Given the description of an element on the screen output the (x, y) to click on. 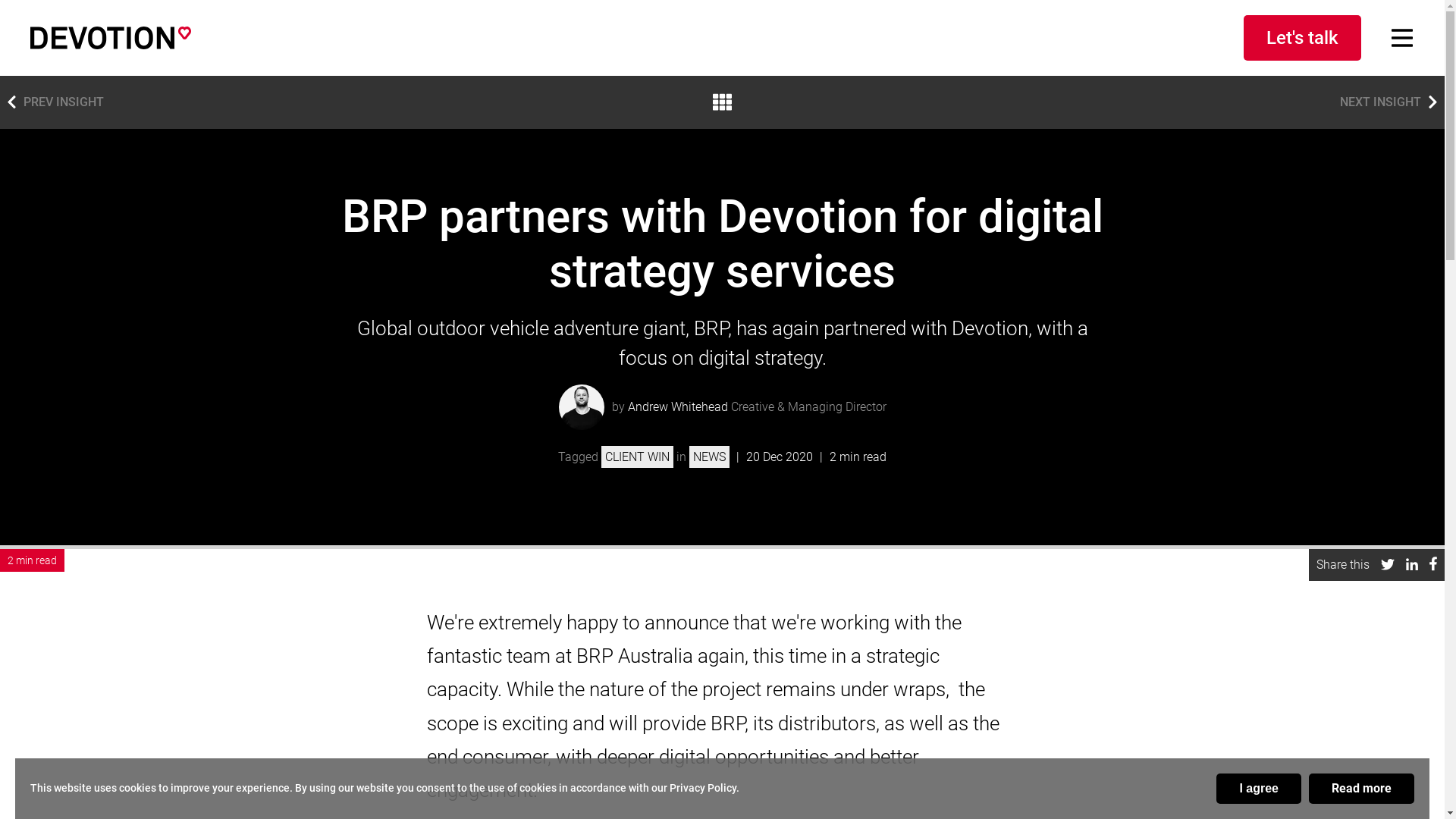
Let's talk Element type: text (1302, 37)
by Andrew Whitehead
Creative & Managing Director Element type: text (721, 406)
NEXT INSIGHT Element type: text (1391, 101)
Read more Element type: text (1361, 788)
NEWS Element type: text (709, 456)
CLIENT WIN Element type: text (637, 456)
PREV INSIGHT Element type: text (51, 101)
I agree Element type: text (1258, 788)
